Given the description of an element on the screen output the (x, y) to click on. 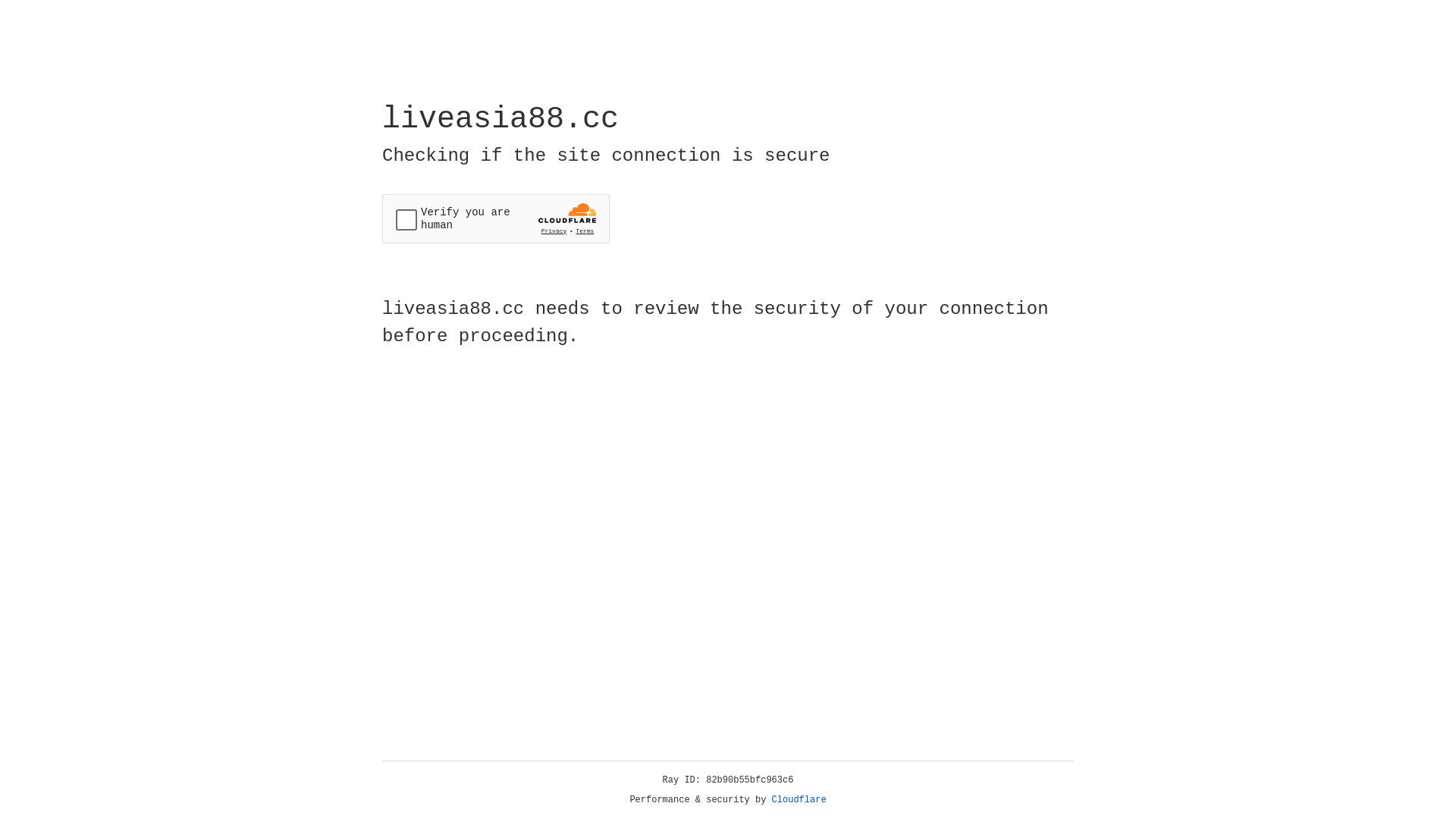
Widget containing a Cloudflare security challenge Element type: hover (495, 218)
Cloudflare Element type: text (798, 799)
